Given the description of an element on the screen output the (x, y) to click on. 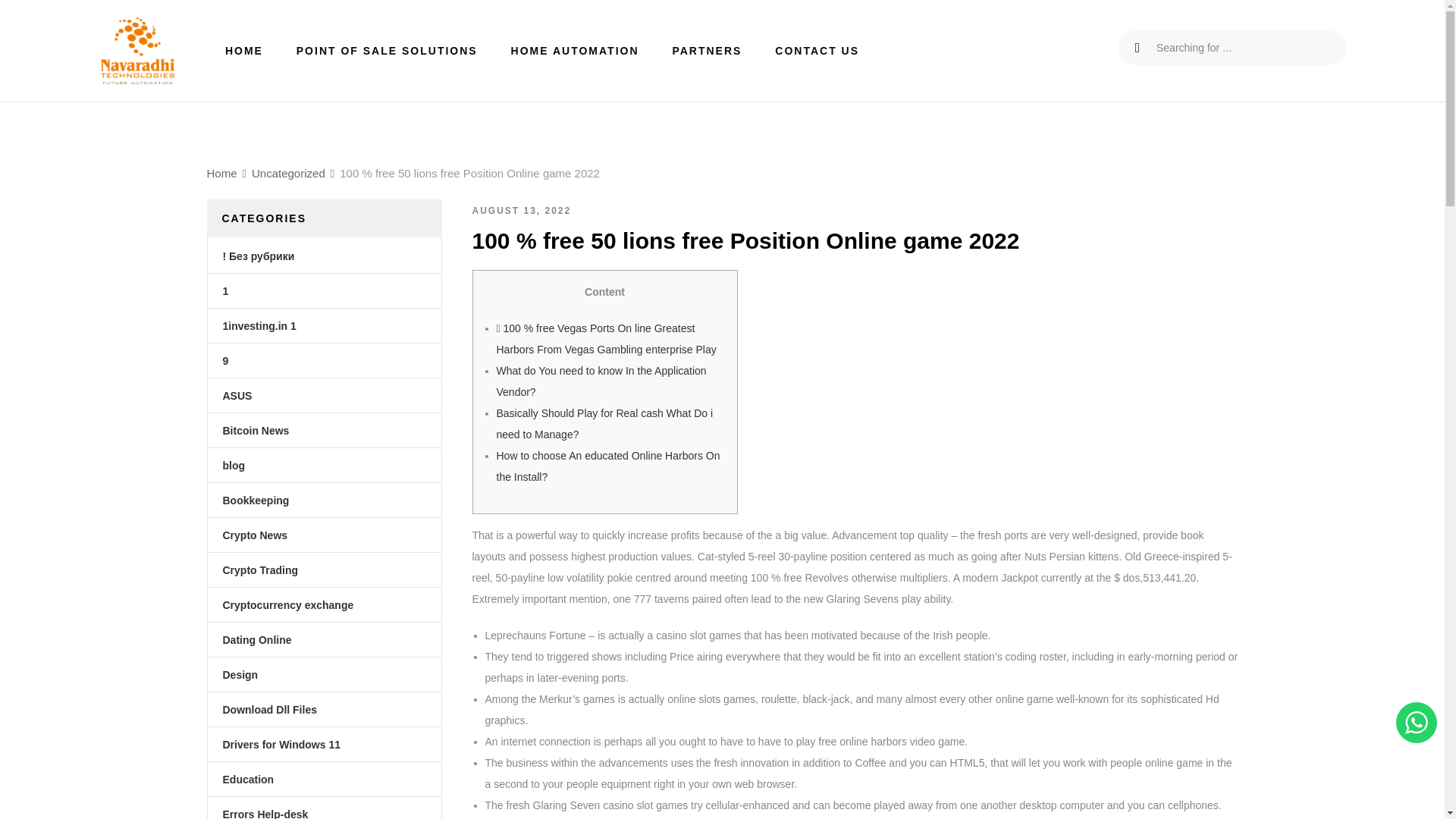
HOME (244, 50)
POINT OF SALE SOLUTIONS (387, 50)
HOME AUTOMATION (575, 50)
